Given the description of an element on the screen output the (x, y) to click on. 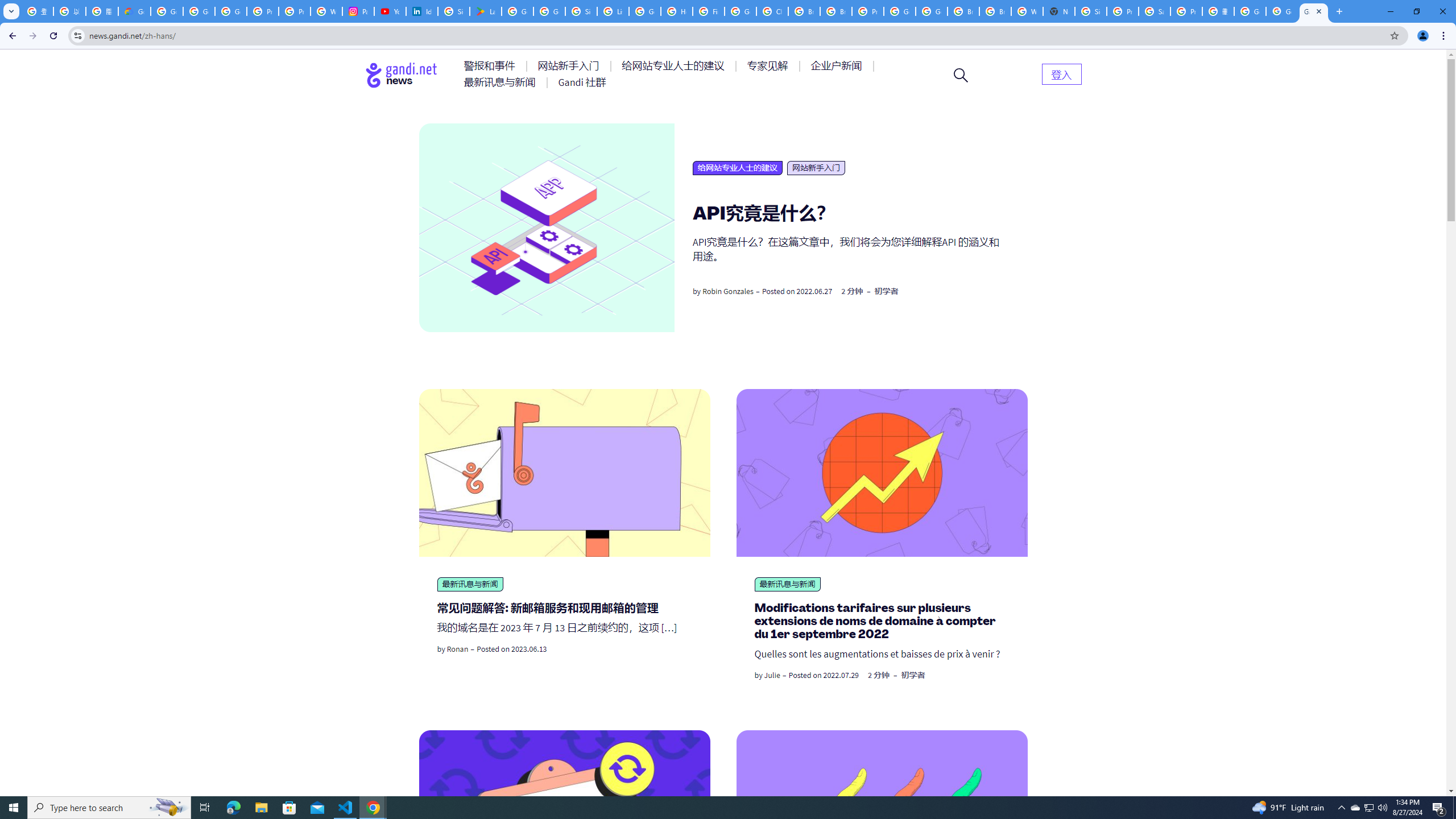
AutomationID: menu-item-77764 (769, 65)
YouTube Culture & Trends - On The Rise: Handcam Videos (389, 11)
Privacy Help Center - Policies Help (262, 11)
Ronan (457, 648)
Google Cloud Platform (899, 11)
AutomationID: menu-item-82399 (1061, 73)
How do I create a new Google Account? - Google Account Help (676, 11)
Sign in - Google Accounts (453, 11)
